Given the description of an element on the screen output the (x, y) to click on. 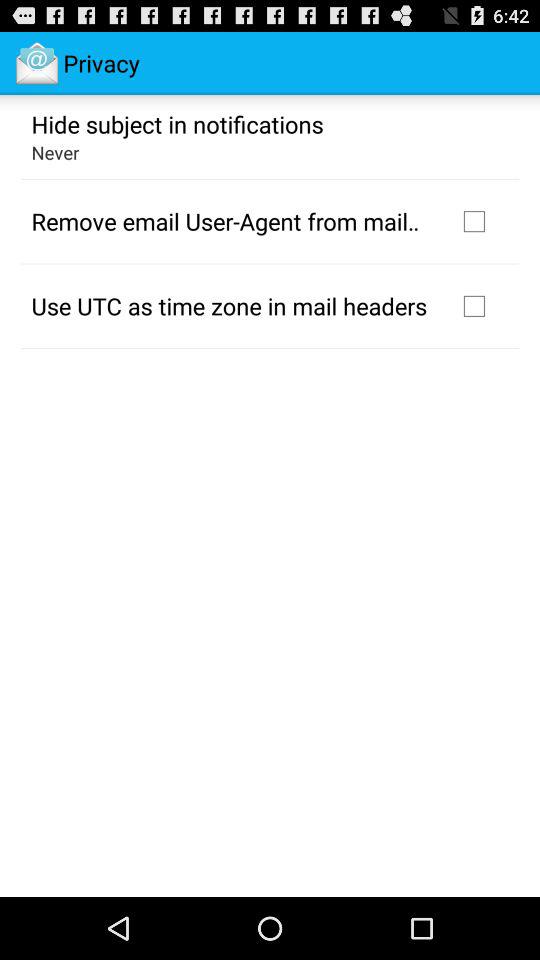
launch the app below the hide subject in item (55, 151)
